Given the description of an element on the screen output the (x, y) to click on. 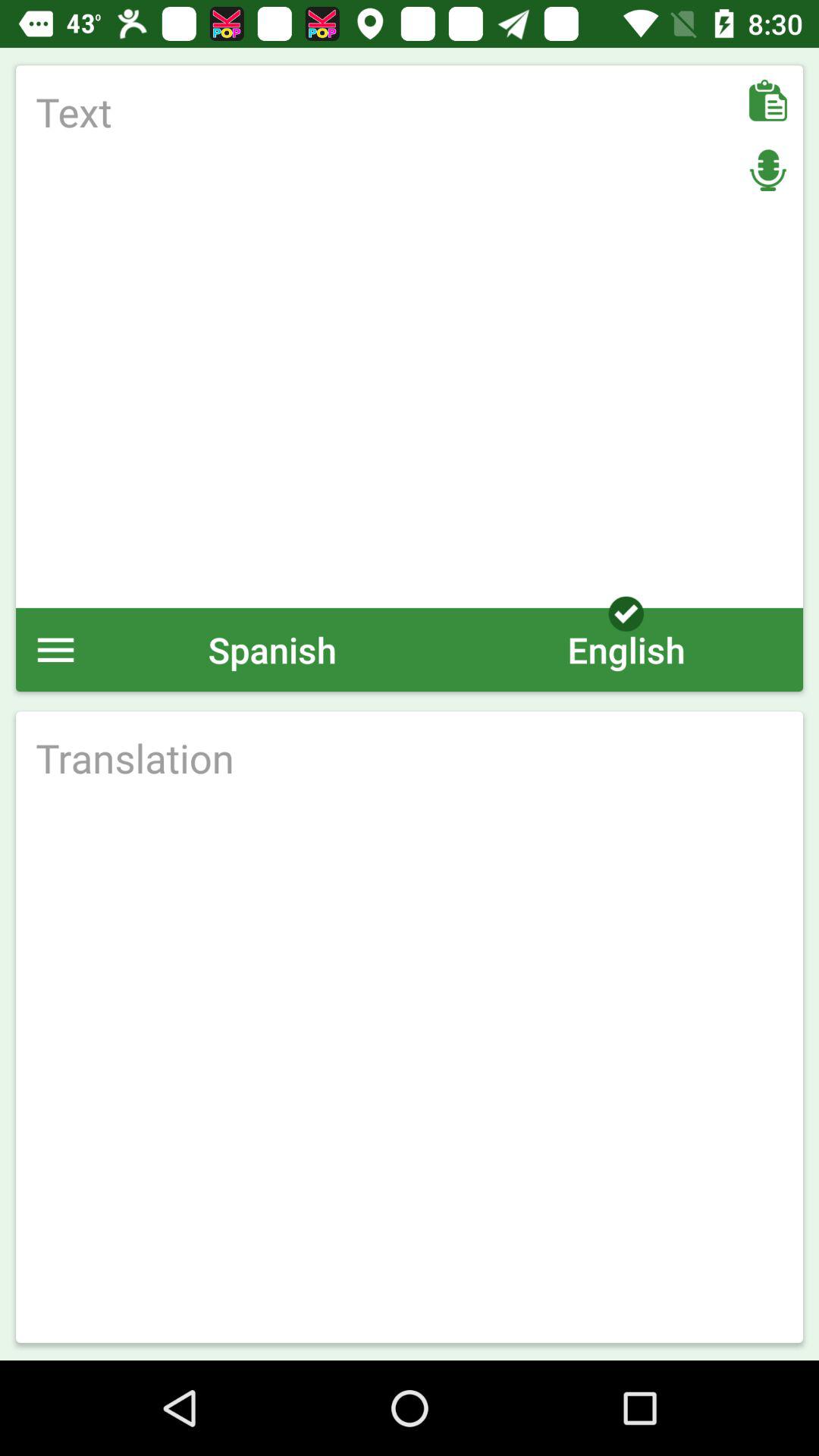
no te quedes sin palabras (409, 336)
